Given the description of an element on the screen output the (x, y) to click on. 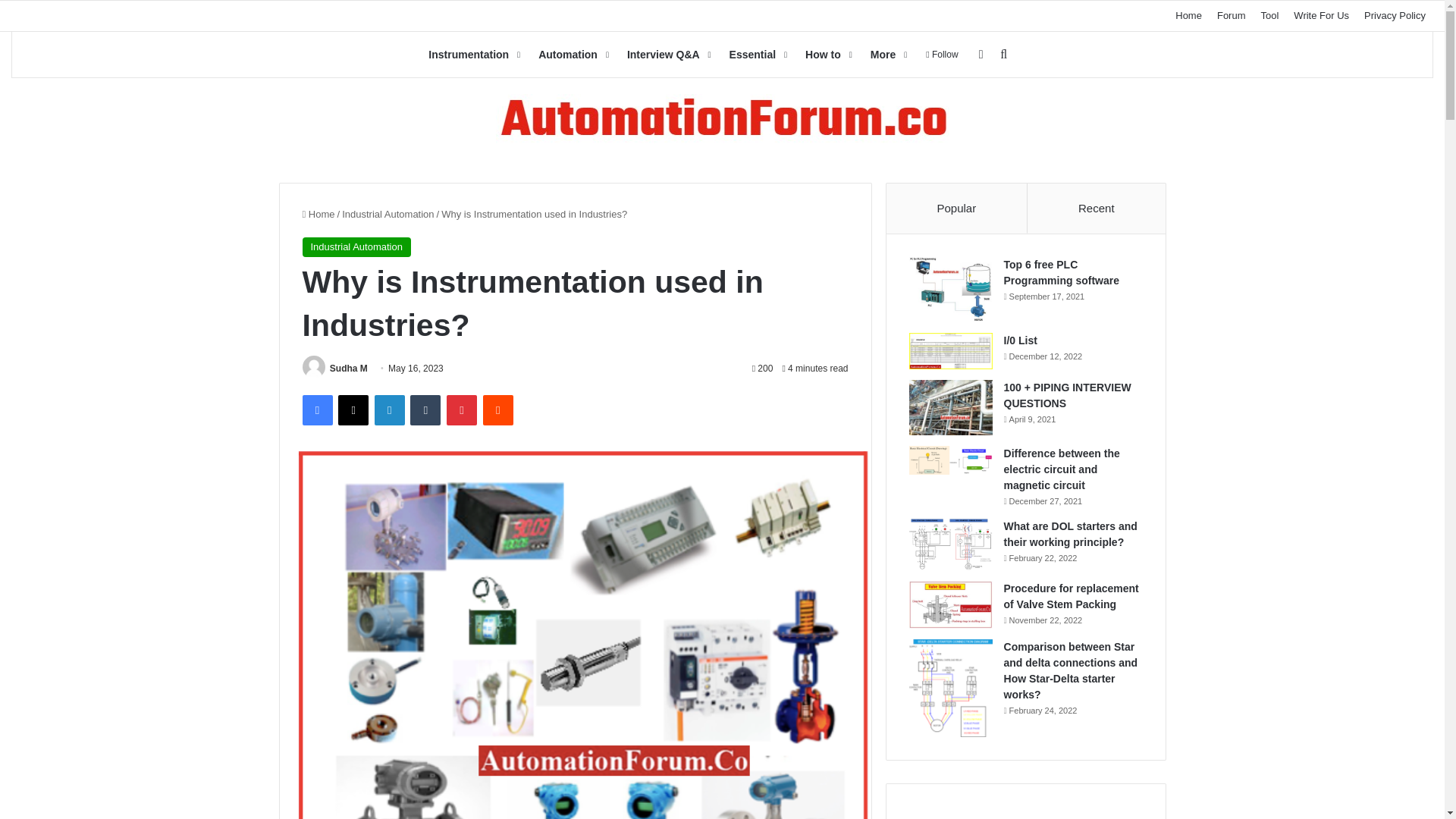
Home (1188, 15)
Essential (756, 53)
Facebook (316, 409)
How to (827, 53)
Reddit (498, 409)
Tumblr (425, 409)
Privacy Policy (1394, 15)
Tool (1268, 15)
X (352, 409)
Write For Us (1320, 15)
Instrumentation (472, 53)
Instrumentation and Control Engineering (722, 119)
Sudha M (349, 368)
LinkedIn (389, 409)
Forum (1231, 15)
